Given the description of an element on the screen output the (x, y) to click on. 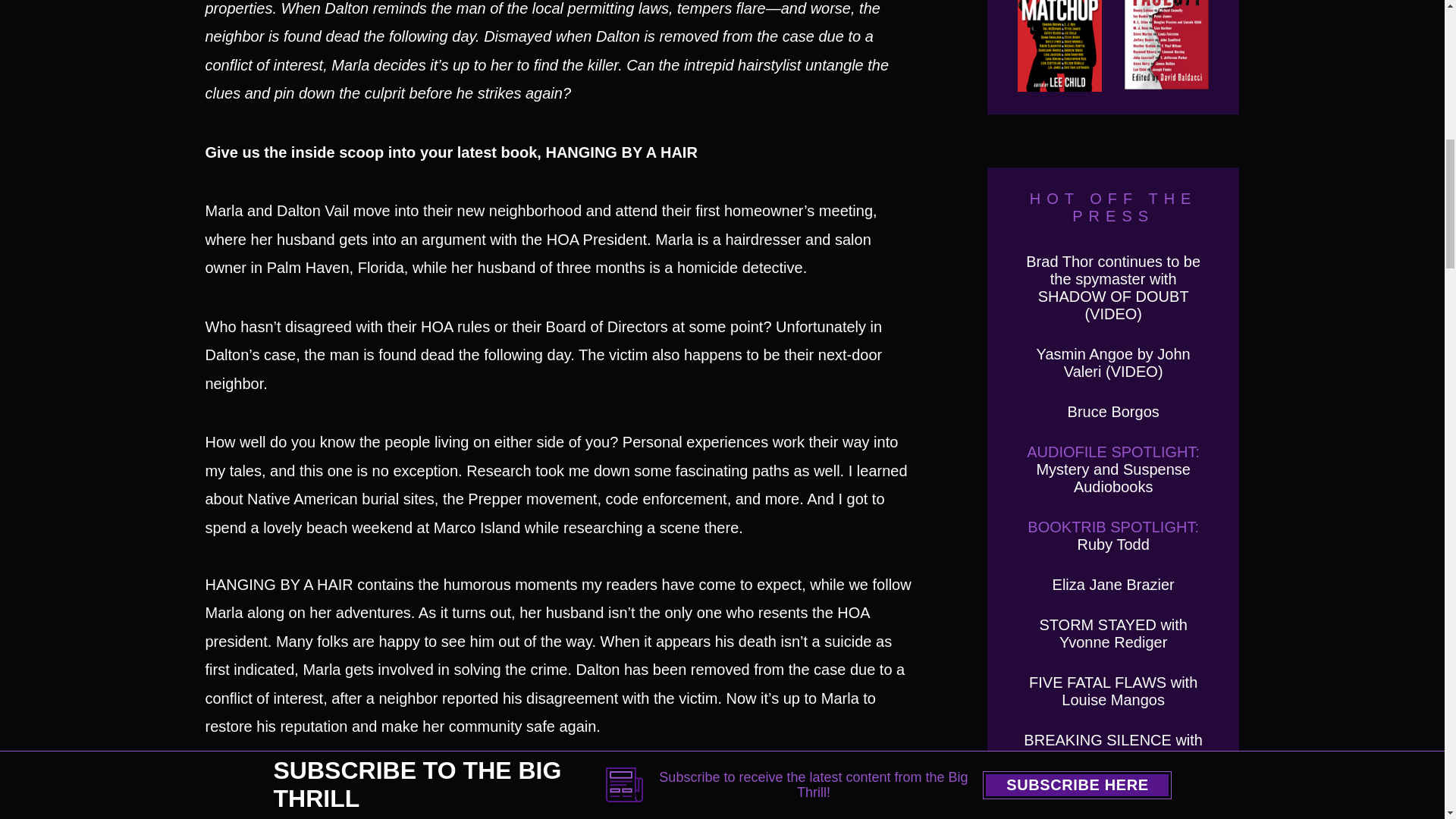
Bruce Borgos (1112, 411)
FIVE FATAL FLAWS with Louise Mangos (1112, 691)
MATCH UP! In Stores Now! (1059, 45)
BREAKING SILENCE with Alan Brenham (1112, 748)
AudioFile Spotlight: Mystery and Suspense Audiobooks (1112, 469)
FACEOFF! In Stores Now! (1166, 45)
Eliza Jane Brazier (1113, 584)
Booktrib Spotlight: Ruby Todd (1112, 535)
STORM STAYED with Yvonne Rediger (1113, 633)
